Given the description of an element on the screen output the (x, y) to click on. 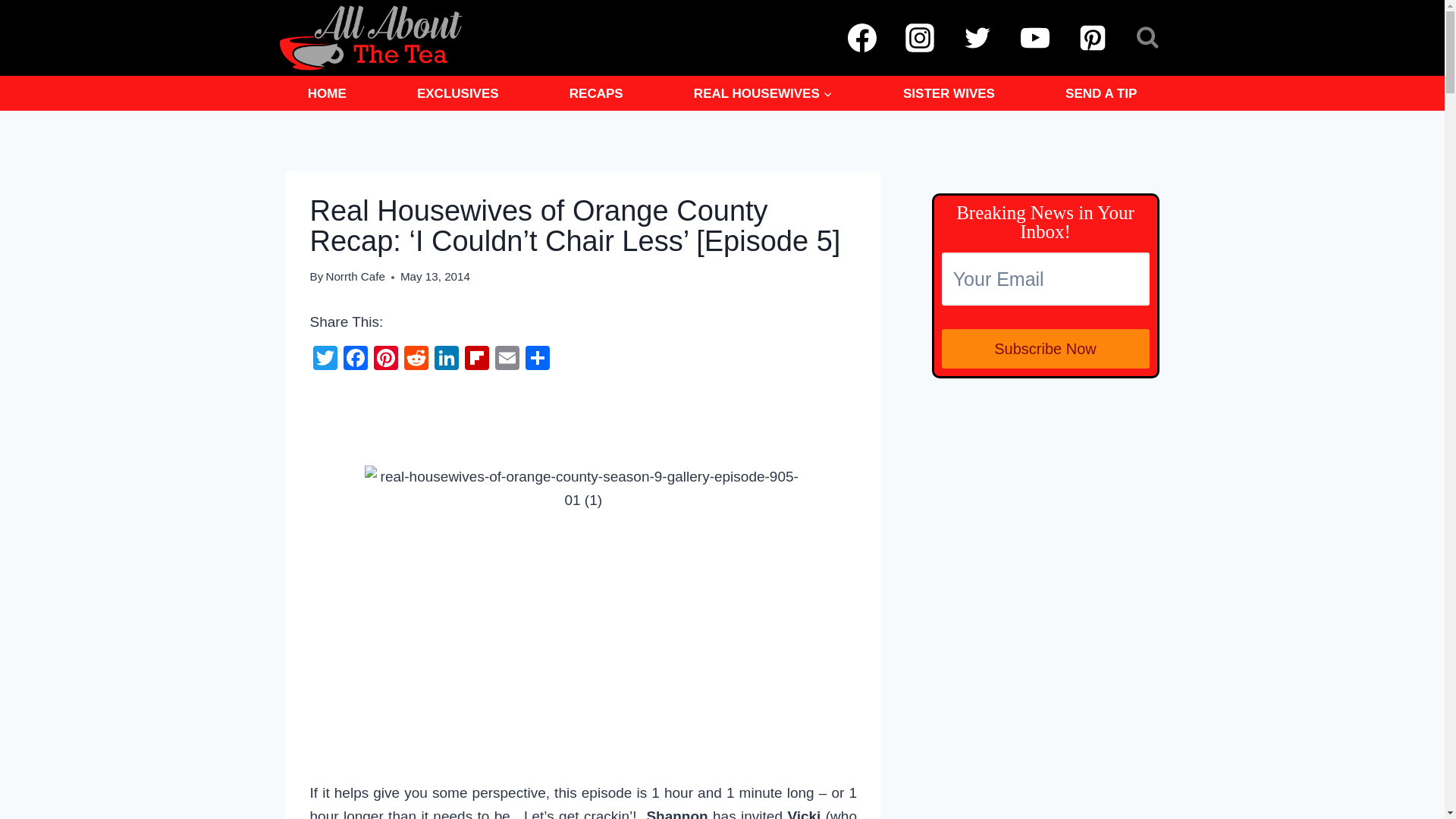
Facebook (354, 359)
Twitter (323, 359)
Pinterest (384, 359)
Flipboard (476, 359)
Flipboard (476, 359)
Twitter (323, 359)
LinkedIn (445, 359)
SEND A TIP (1100, 93)
RECAPS (596, 93)
HOME (326, 93)
Pinterest (384, 359)
Share (536, 359)
Facebook (354, 359)
LinkedIn (445, 359)
EXCLUSIVES (457, 93)
